Given the description of an element on the screen output the (x, y) to click on. 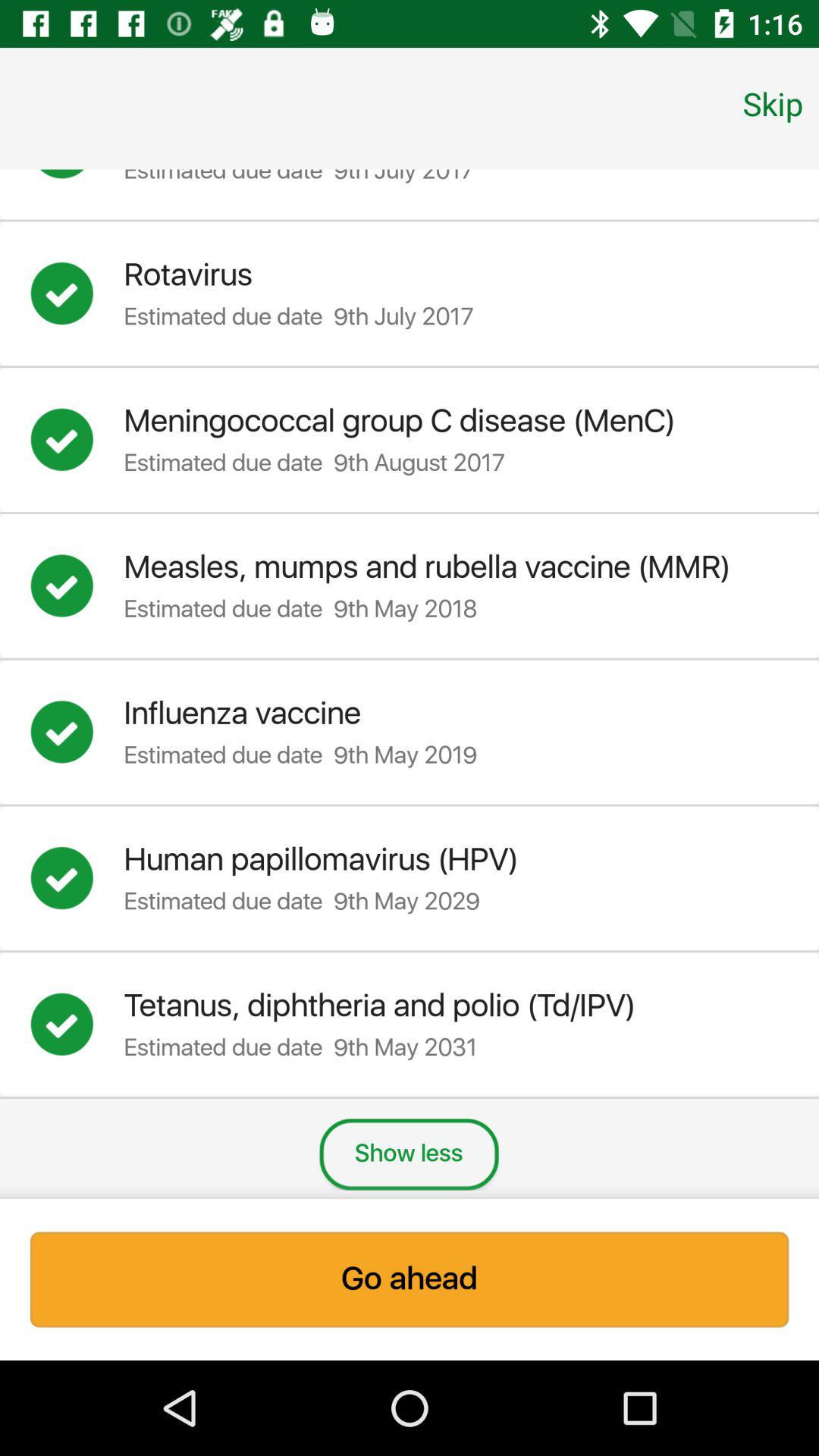
select or de-select option (76, 179)
